Given the description of an element on the screen output the (x, y) to click on. 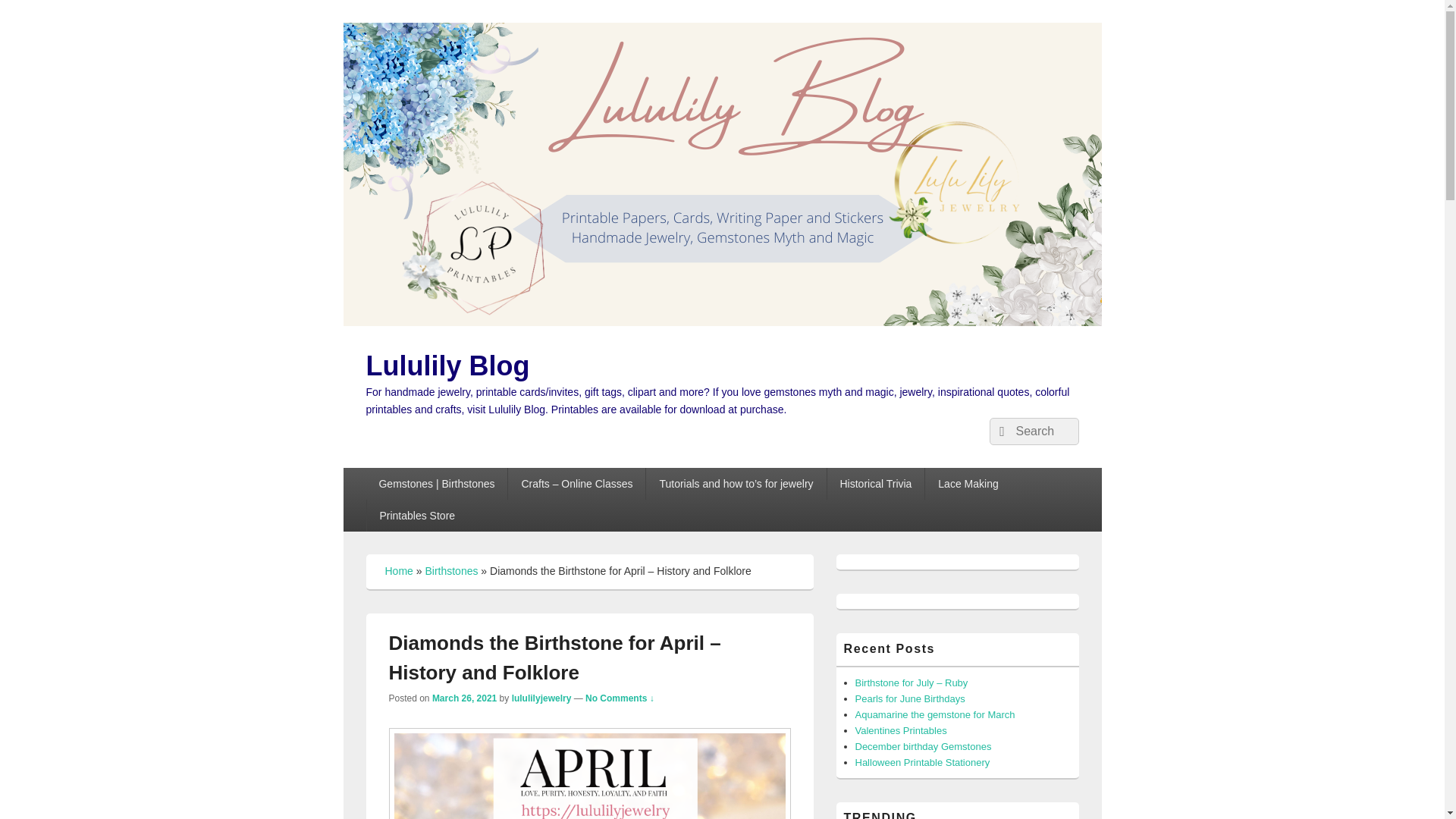
Lace Making (967, 483)
Search (999, 431)
Lululily Blog (447, 365)
View all posts by lululilyjewelry (542, 697)
3:01 pm (464, 697)
Lululily Blog (721, 321)
Search for: (1033, 431)
Printables Store (417, 515)
Historical Trivia (875, 483)
